Given the description of an element on the screen output the (x, y) to click on. 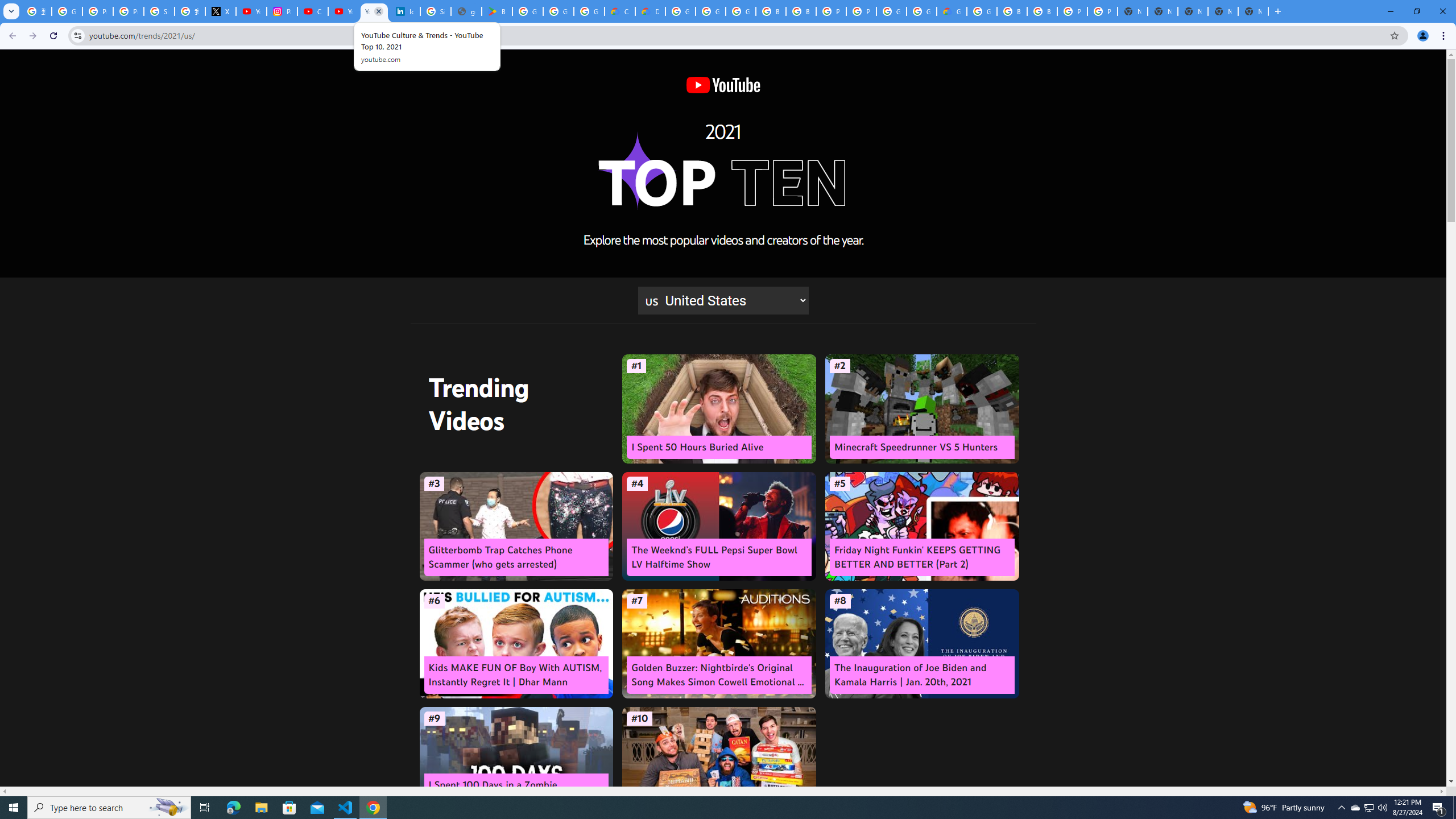
Browse Chrome as a guest - Computer - Google Chrome Help (1042, 11)
Google Workspace - Specific Terms (558, 11)
New Tab (1253, 11)
Privacy Help Center - Policies Help (97, 11)
google_privacy_policy_en.pdf (465, 11)
#10 Game Night Stereotypes (718, 761)
Google Cloud Platform (981, 11)
